Given the description of an element on the screen output the (x, y) to click on. 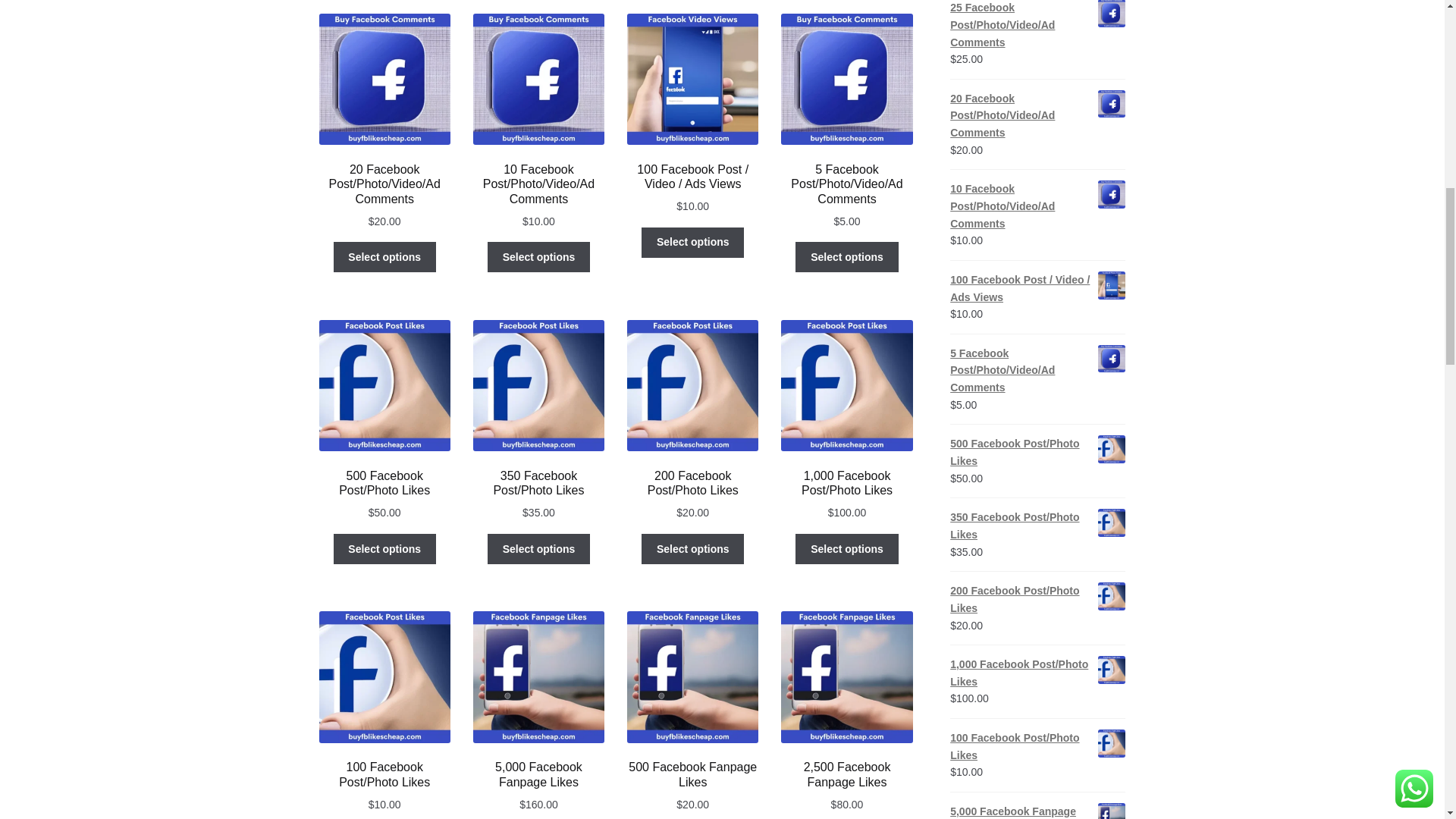
Select options (538, 256)
Select options (384, 256)
